Given the description of an element on the screen output the (x, y) to click on. 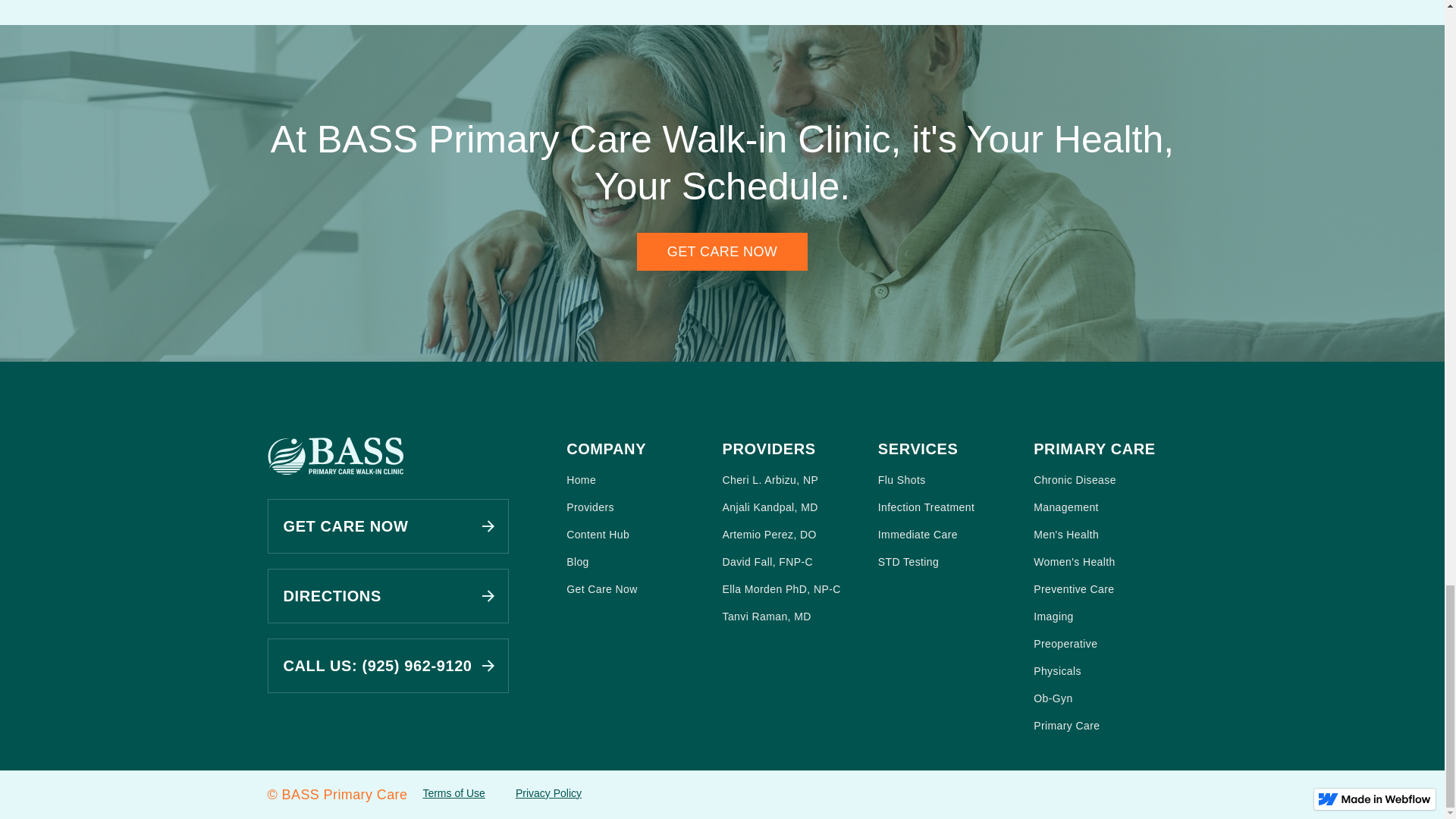
Home (638, 479)
GET CARE NOW (387, 525)
GET CARE NOW (722, 251)
Content Hub (638, 533)
Providers (638, 506)
DIRECTIONS (387, 595)
